Given the description of an element on the screen output the (x, y) to click on. 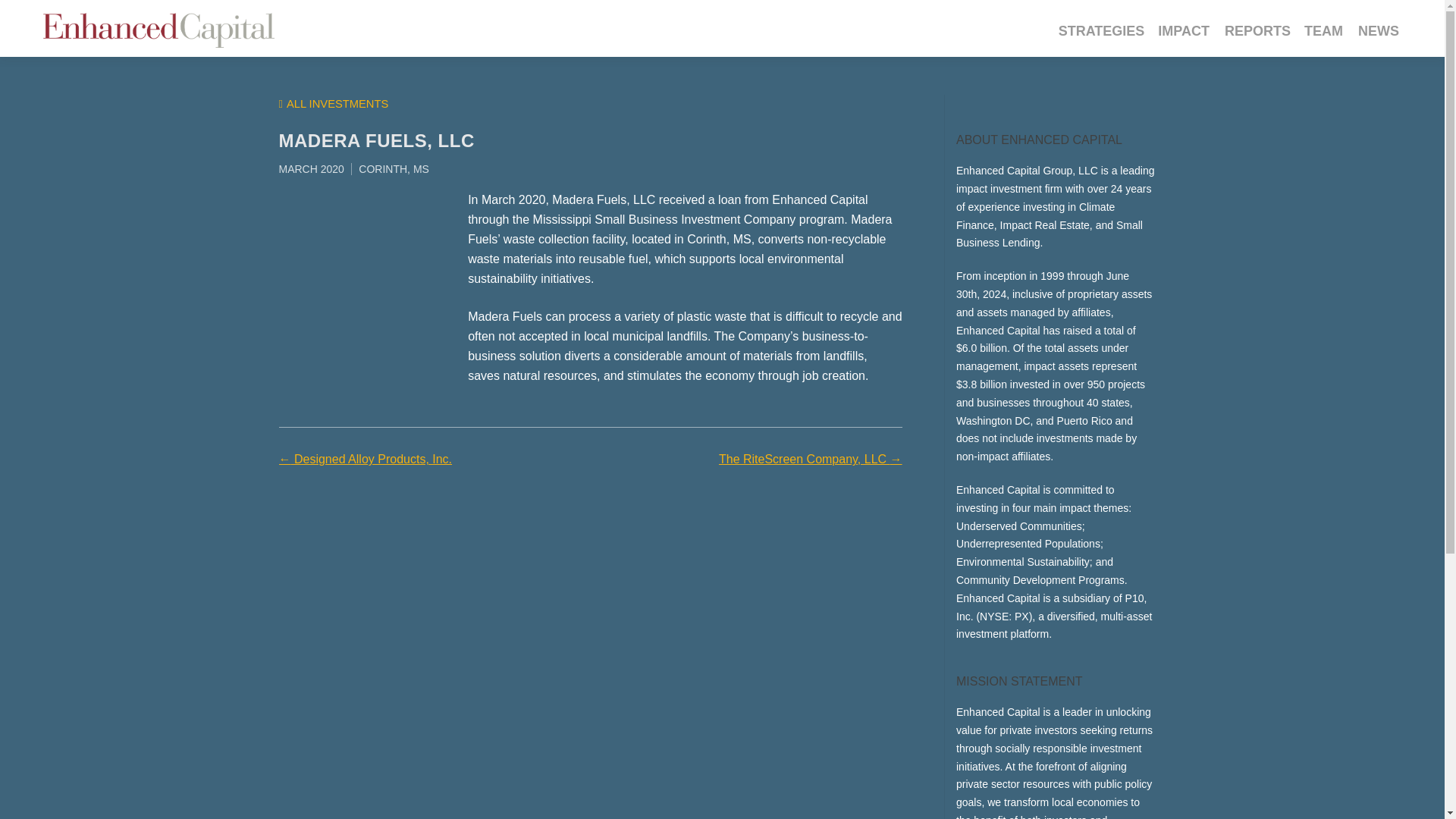
REPORTS (1257, 31)
TEAM (1323, 31)
Homepage (168, 28)
NEWS (1378, 31)
ALL INVESTMENTS (333, 103)
STRATEGIES (1101, 31)
IMPACT (1183, 31)
